Given the description of an element on the screen output the (x, y) to click on. 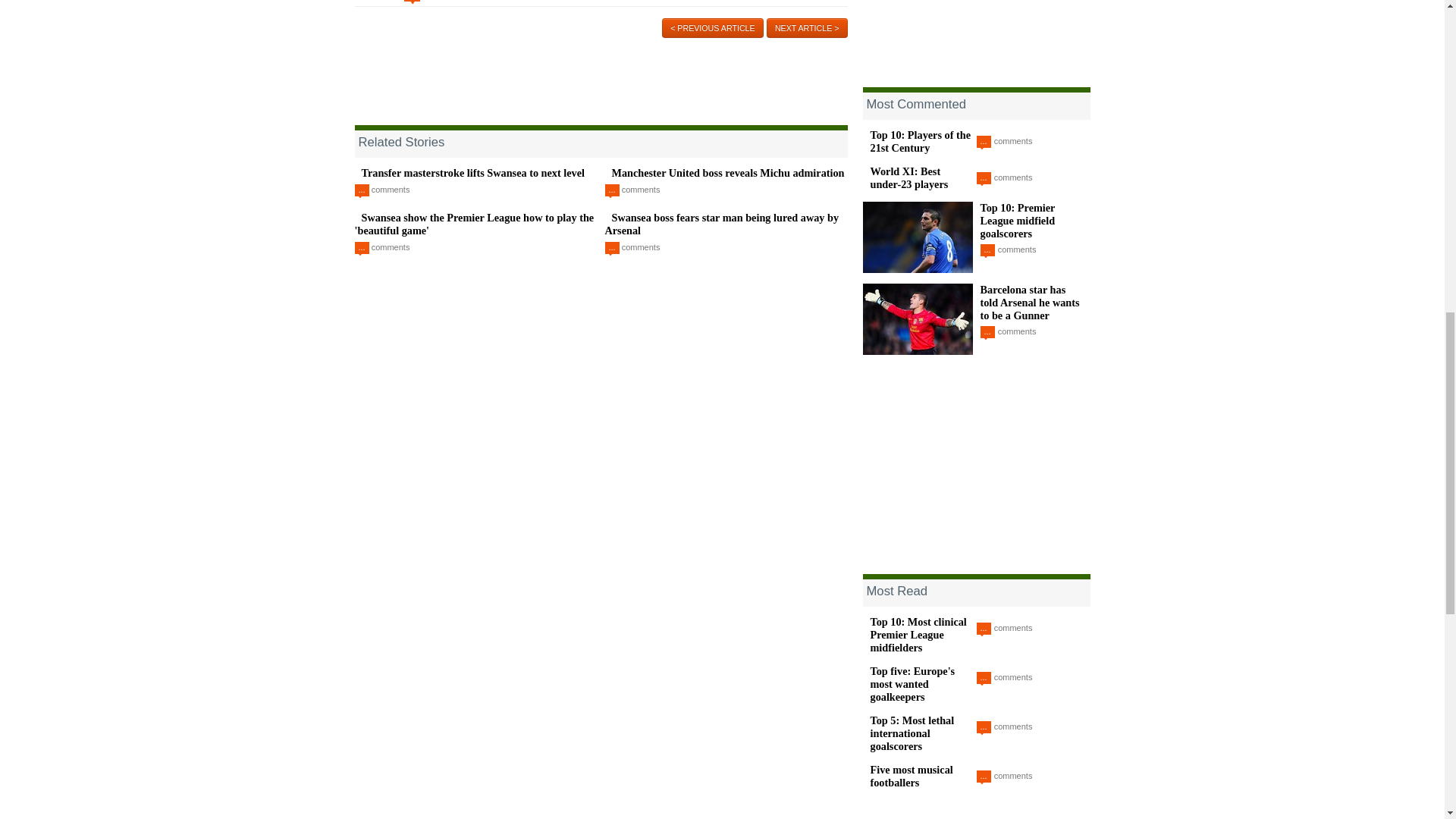
... (412, 2)
... (362, 191)
Transfer masterstroke lifts Swansea to next level (472, 173)
comments (390, 189)
Manchester United boss reveals Michu admiration (727, 173)
